Given the description of an element on the screen output the (x, y) to click on. 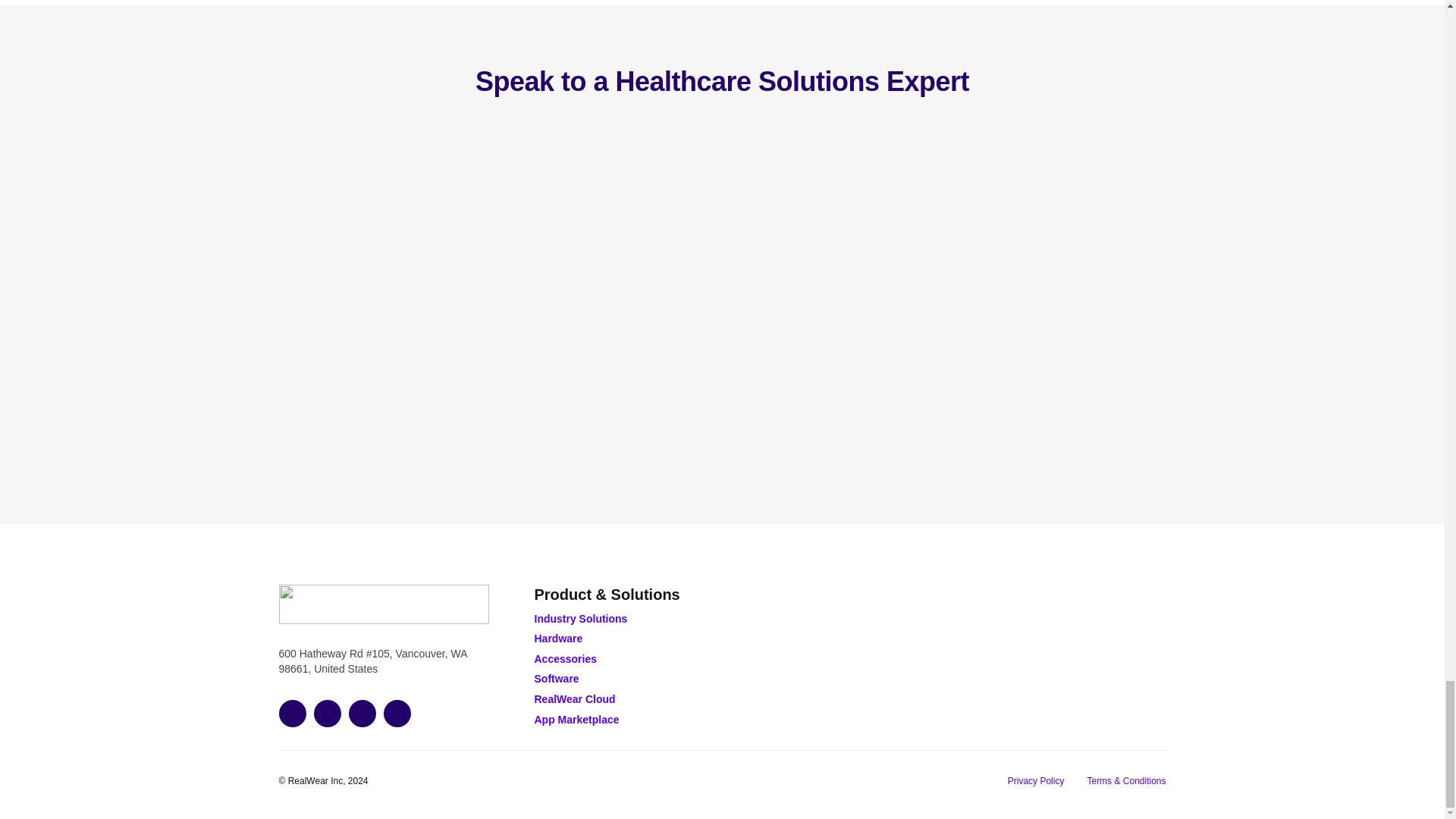
App Marketplace (576, 719)
Accessories (565, 658)
Software (556, 678)
RealWear Cloud (574, 698)
Hardware (558, 638)
Industry Solutions (580, 618)
